Given the description of an element on the screen output the (x, y) to click on. 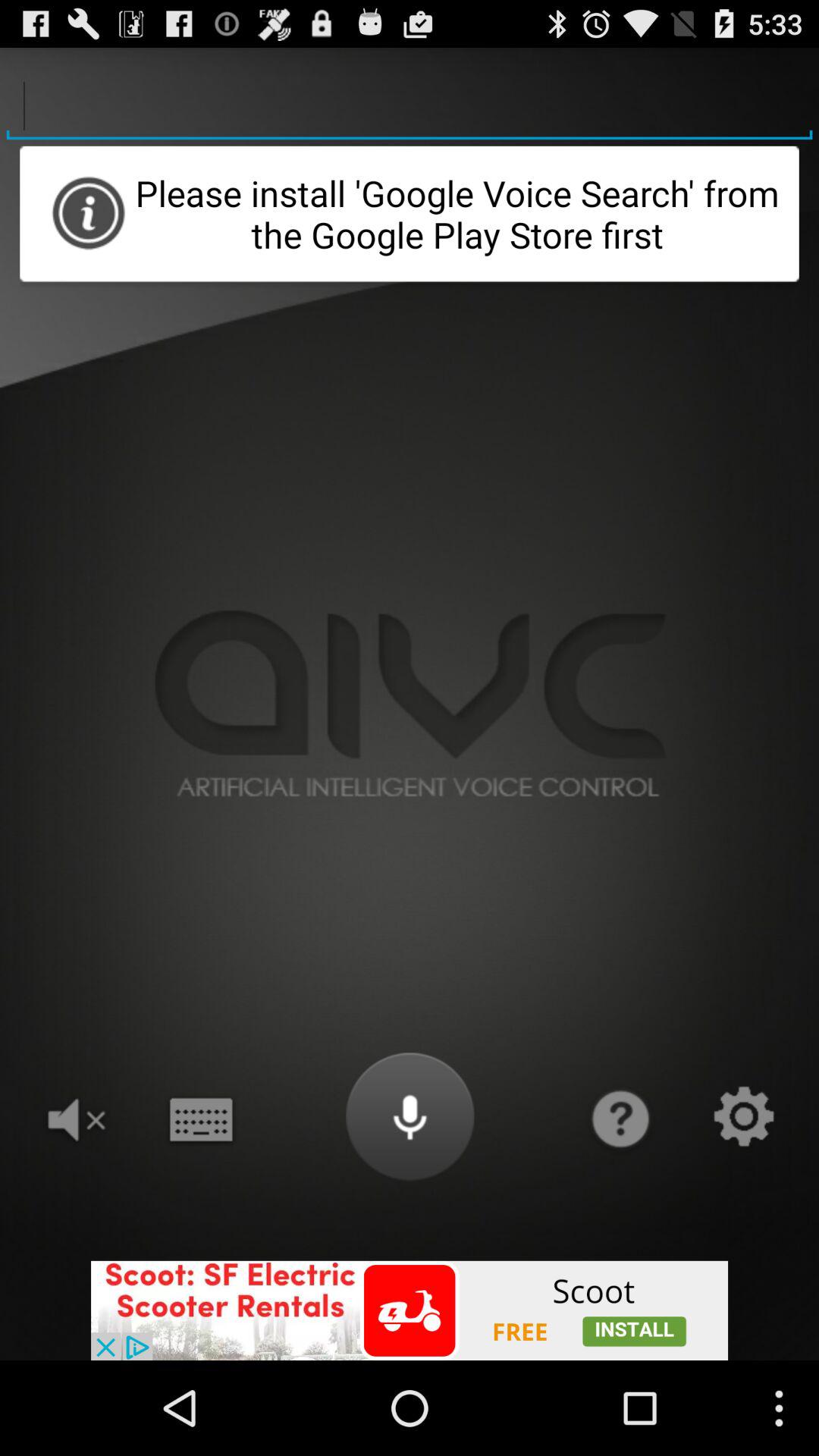
install an app (409, 1310)
